Given the description of an element on the screen output the (x, y) to click on. 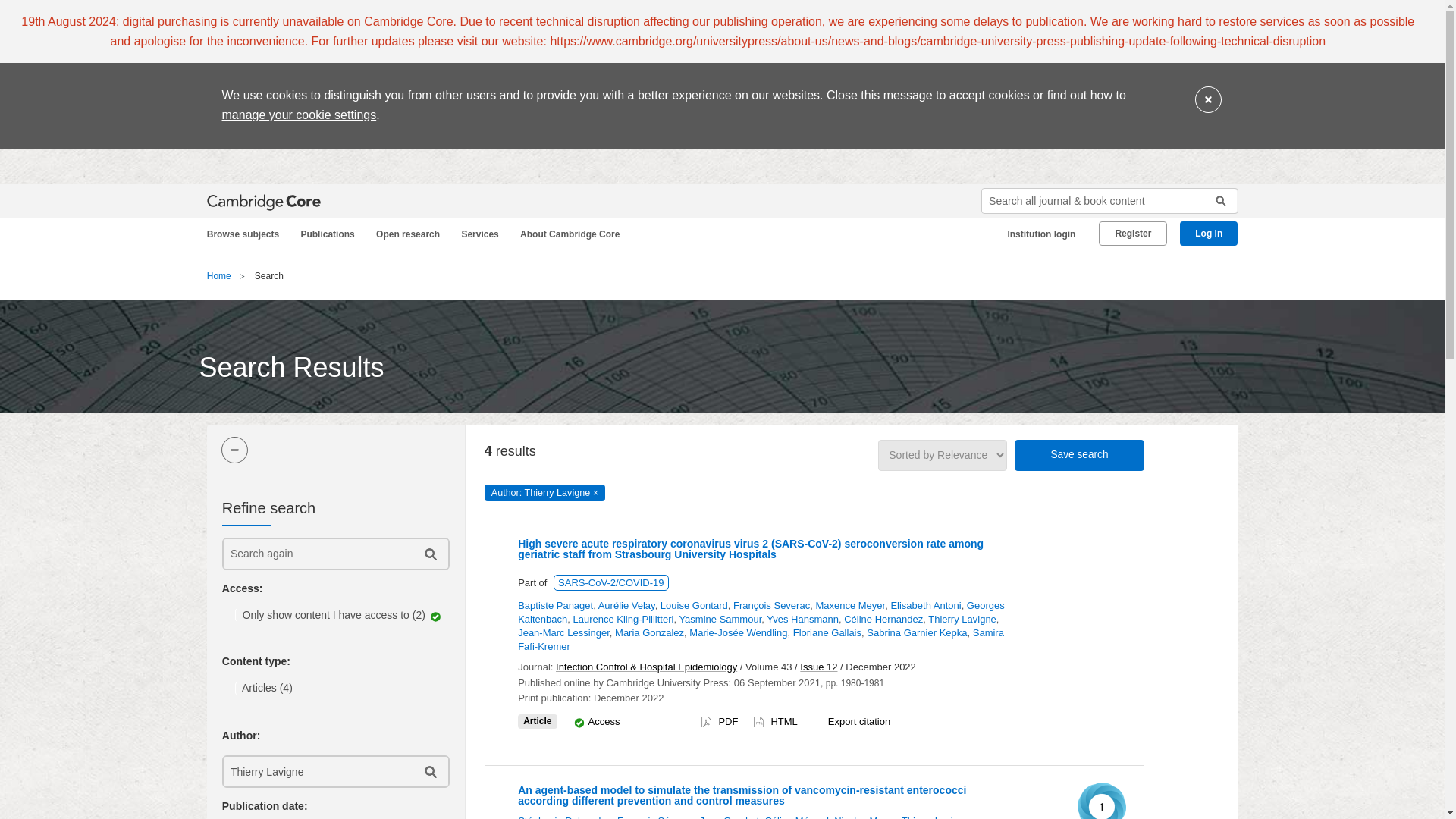
Submit author search (429, 771)
You have access to this product (579, 722)
Register (1133, 233)
Log in (1208, 233)
Open research (410, 234)
Browse subjects (250, 234)
Thierry Lavigne (316, 771)
Submit author search (429, 771)
Home (218, 276)
Institution login (1035, 234)
